Given the description of an element on the screen output the (x, y) to click on. 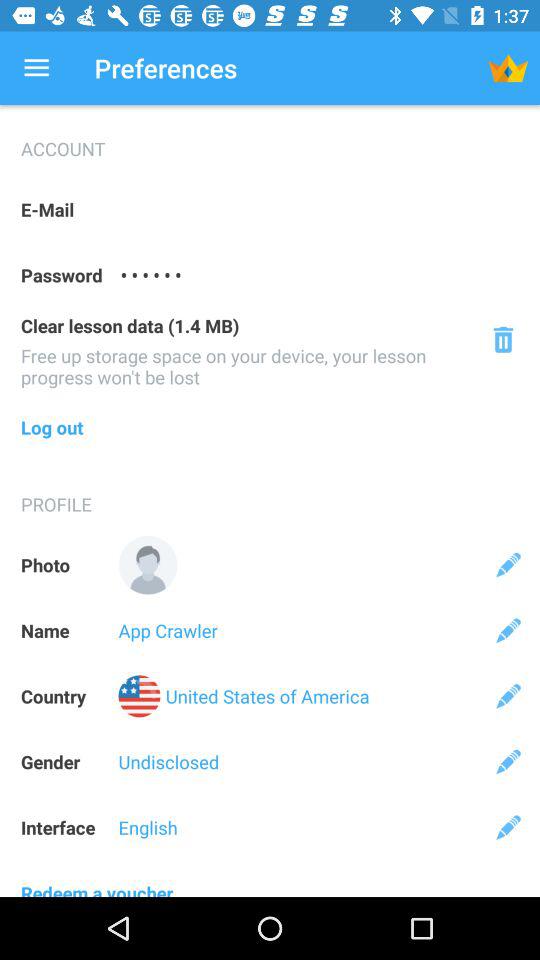
click edit option (508, 630)
